Given the description of an element on the screen output the (x, y) to click on. 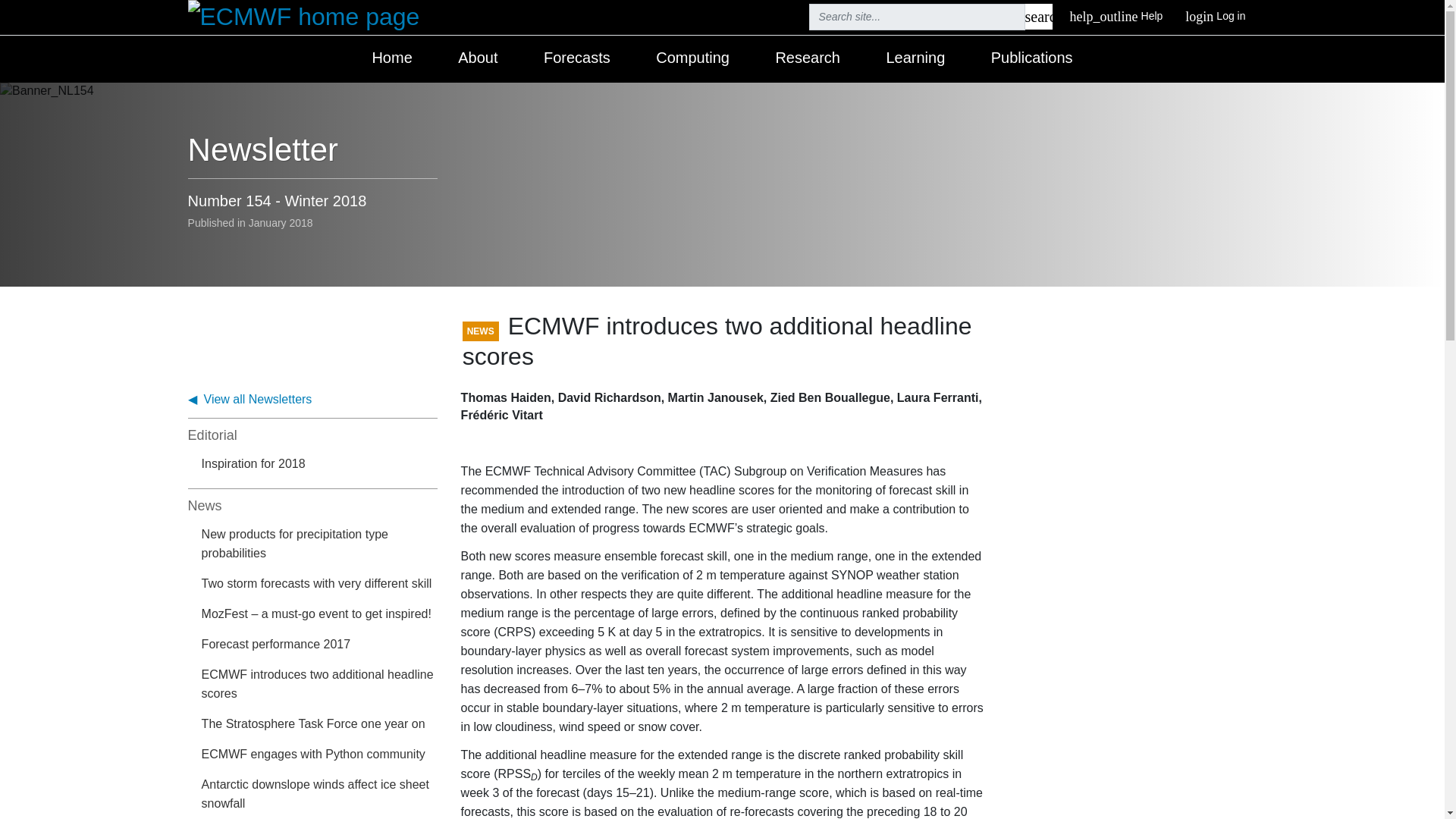
Learning (1214, 16)
Forecast performance 2017 (915, 59)
Two storm forecasts with very different skill (320, 645)
New products for precipitation type probabilities (320, 585)
Go (320, 545)
About (1038, 17)
Inspiration for 2018 (477, 59)
ECMWF introduces two additional headline scores (320, 465)
Computing (320, 685)
Forecasts (692, 59)
Go (576, 59)
Research (1038, 17)
Home (807, 59)
Publications (391, 59)
